Given the description of an element on the screen output the (x, y) to click on. 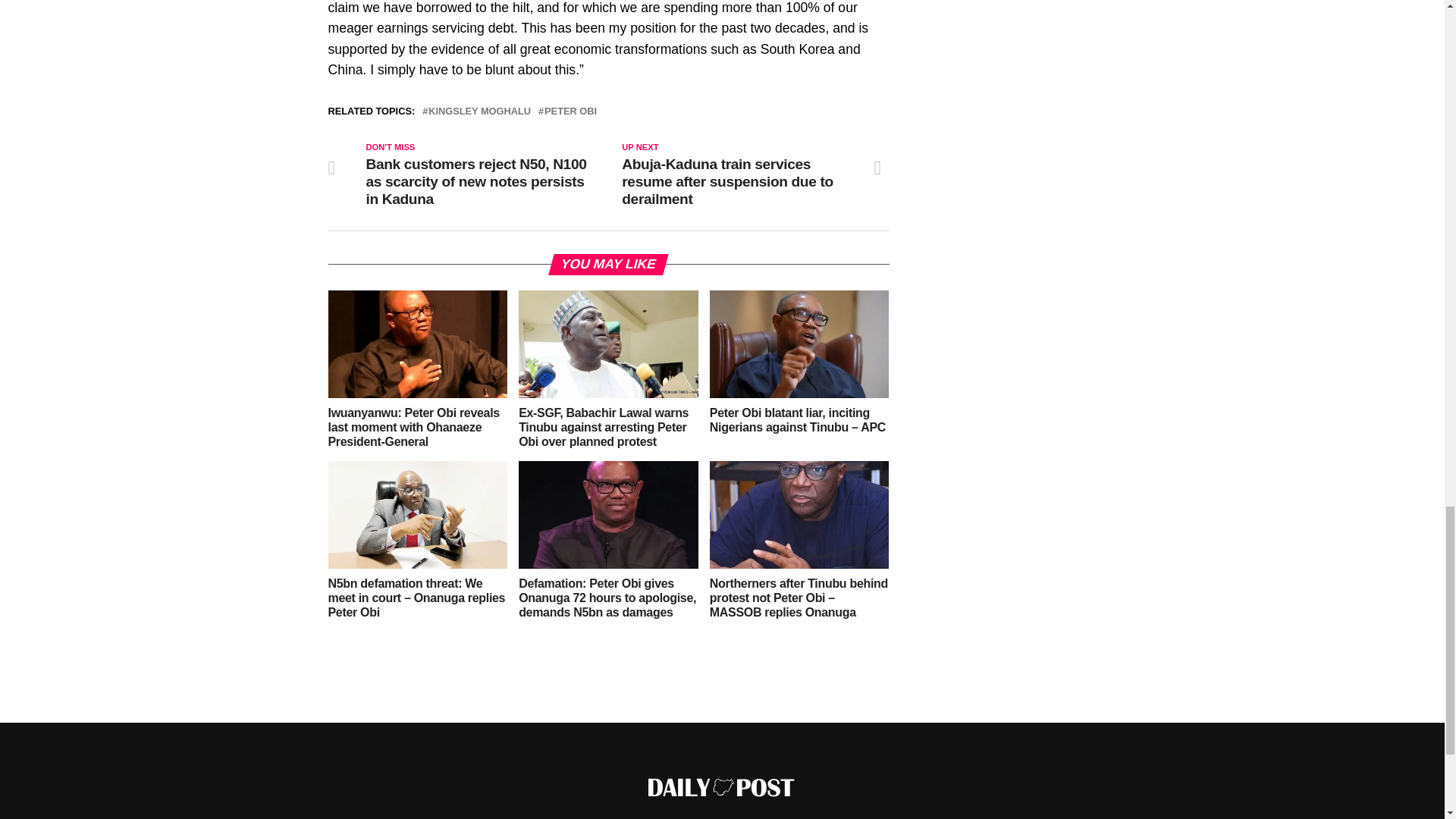
PETER OBI (570, 112)
KINGSLEY MOGHALU (479, 112)
